Given the description of an element on the screen output the (x, y) to click on. 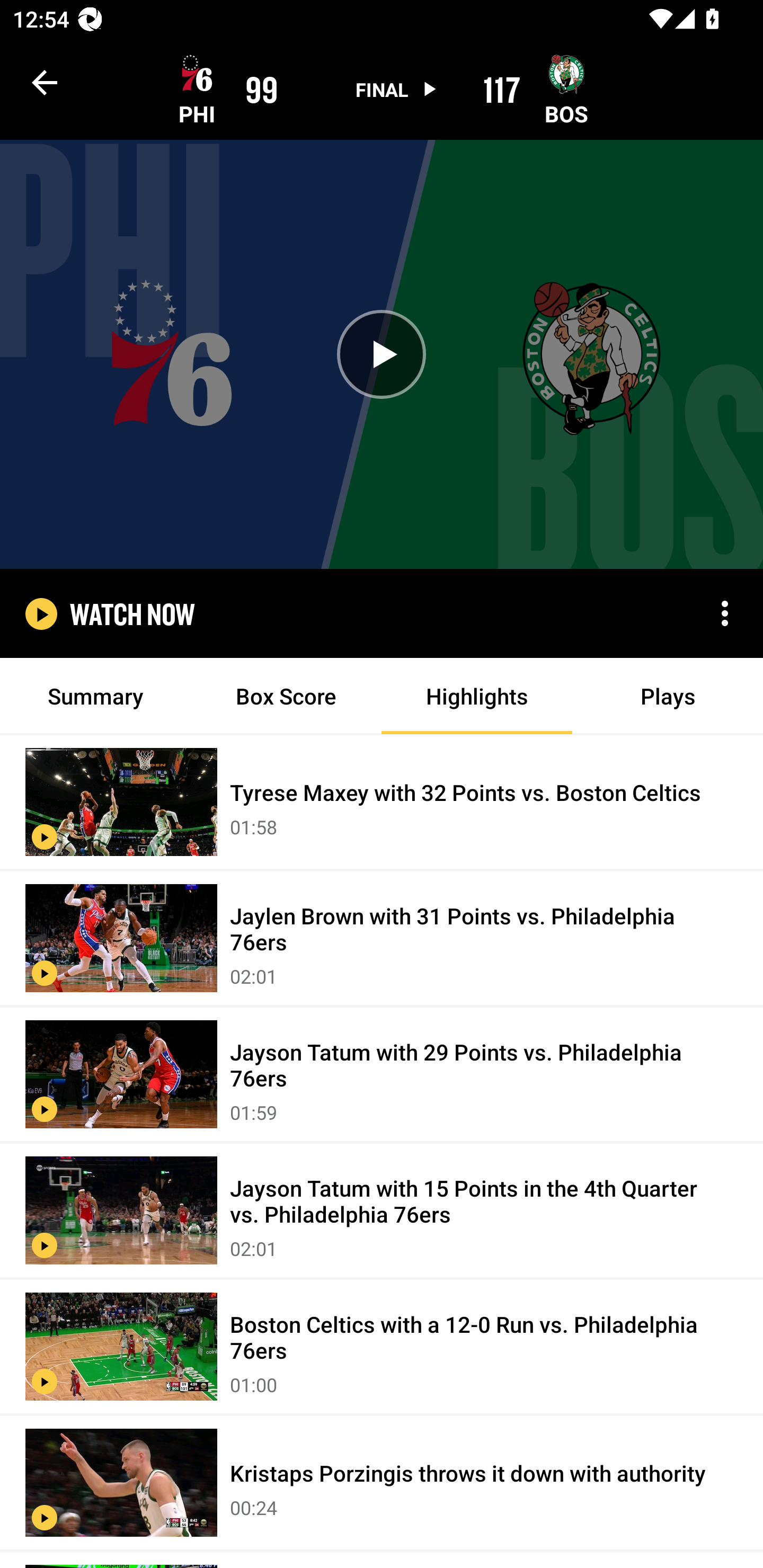
Navigate up (44, 82)
More options (724, 613)
WATCH NOW (132, 613)
Summary (95, 695)
Box Score (285, 695)
Plays (667, 695)
